Given the description of an element on the screen output the (x, y) to click on. 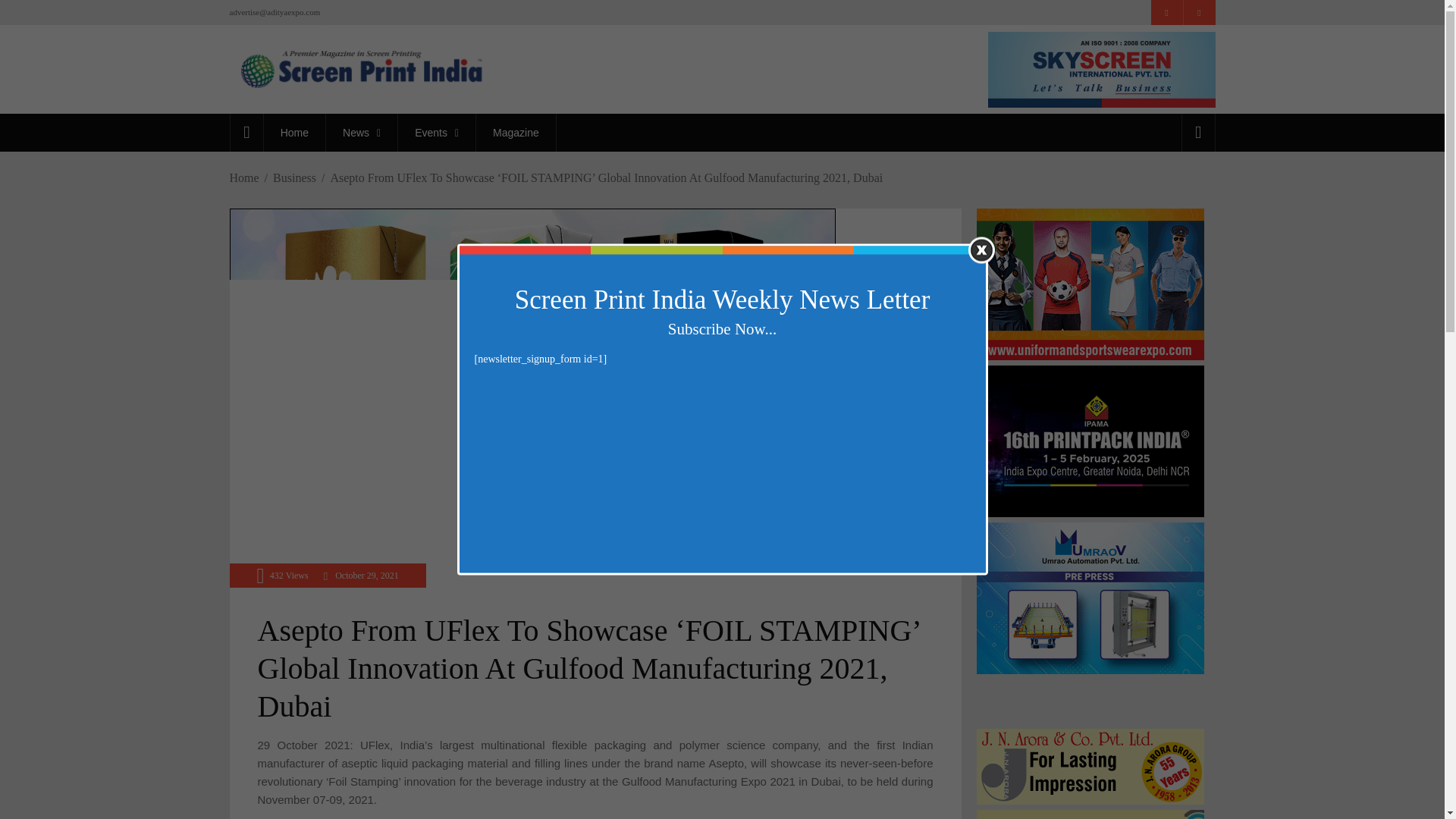
Events (436, 132)
Close (981, 249)
Magazine (516, 132)
Home (293, 132)
News (360, 132)
